Given the description of an element on the screen output the (x, y) to click on. 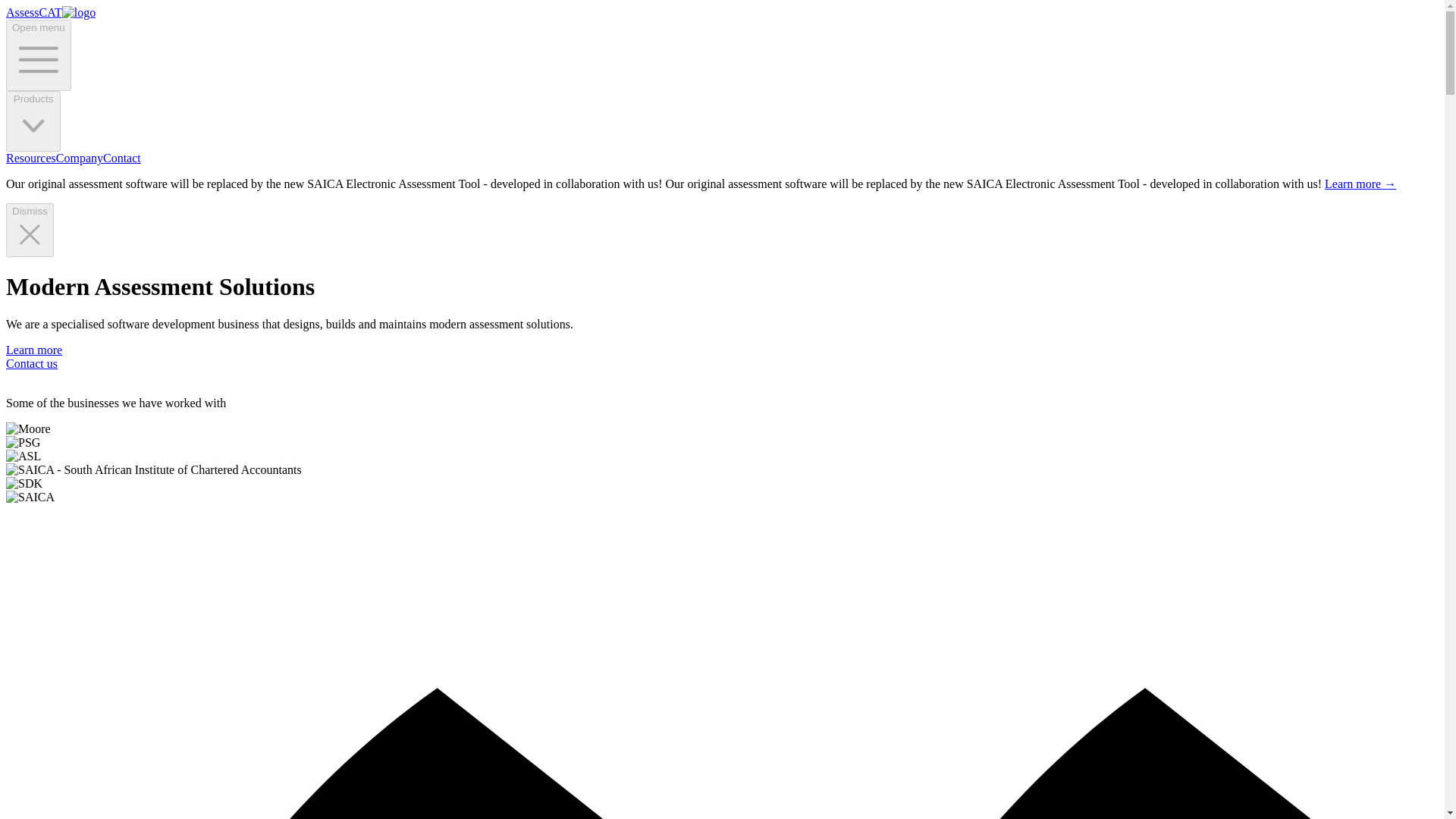
Resources (30, 157)
Company (79, 157)
Contact us (31, 362)
Open menu (38, 54)
Products (33, 120)
Learn more (33, 349)
Contact (122, 157)
AssessCAT (50, 11)
